Given the description of an element on the screen output the (x, y) to click on. 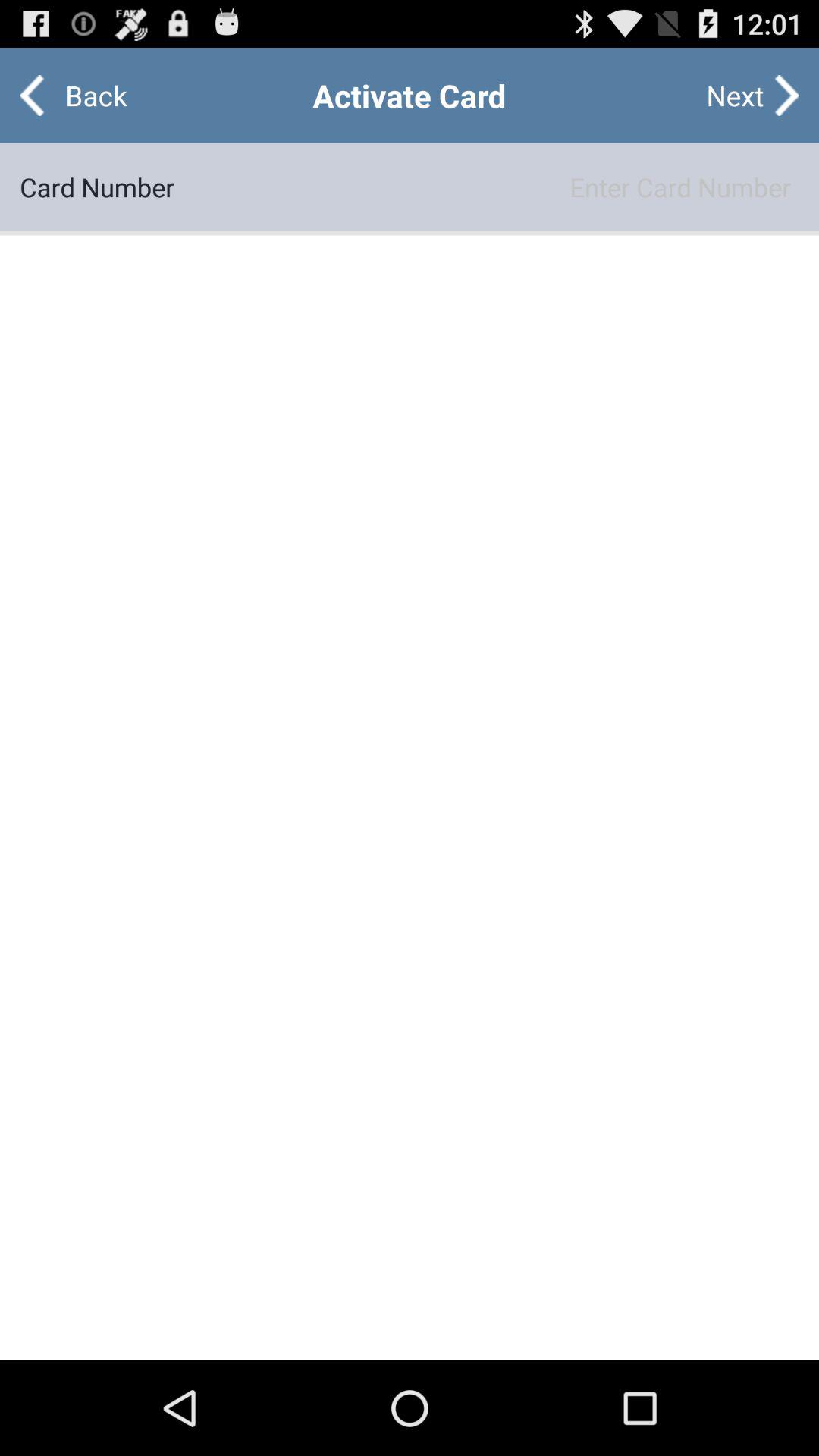
open button to the left of the next icon (83, 95)
